Given the description of an element on the screen output the (x, y) to click on. 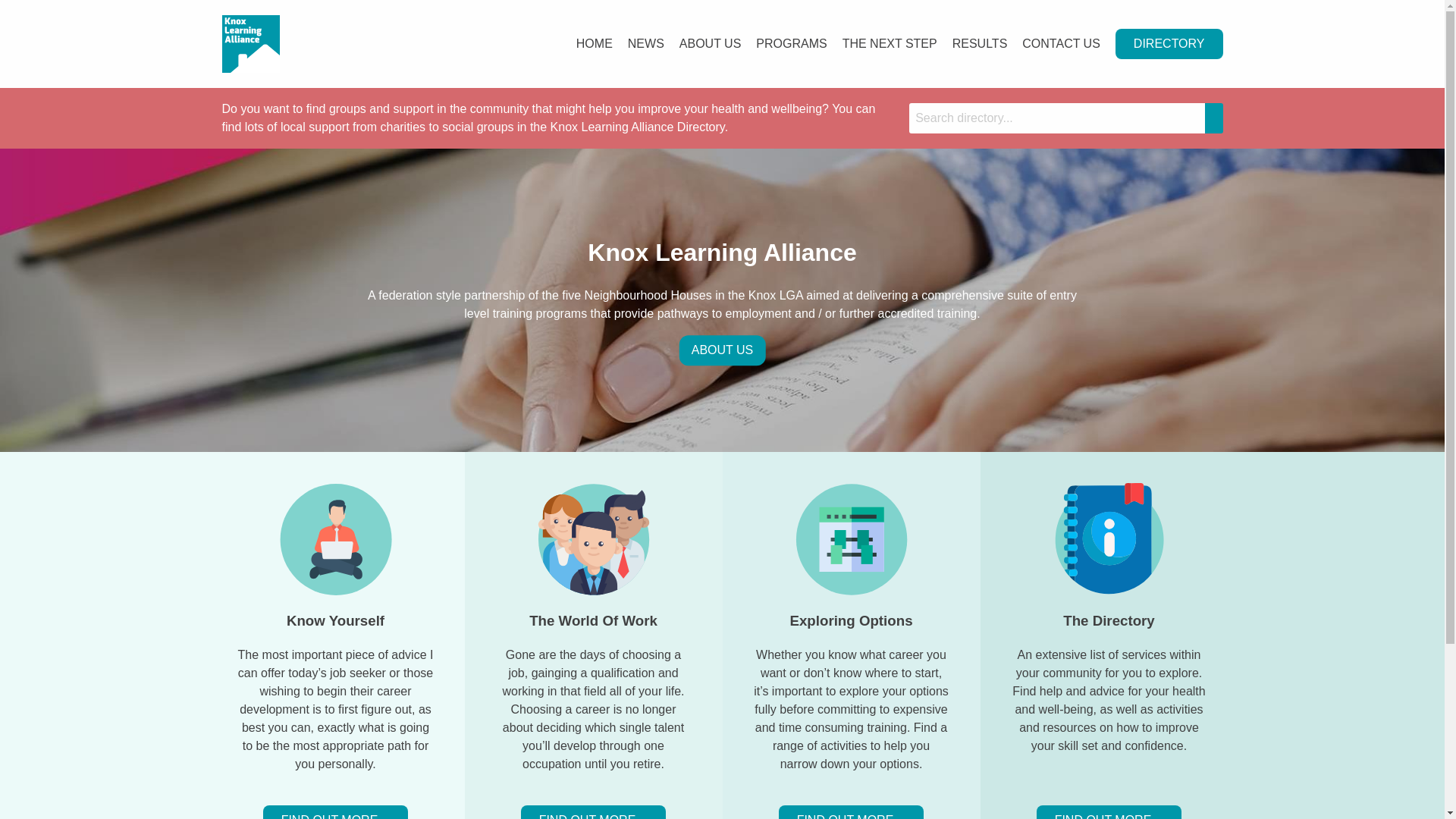
DIRECTORY Element type: text (1169, 43)
home Element type: hover (250, 42)
ABOUT US Element type: text (722, 350)
NEWS Element type: text (645, 43)
ABOUT US Element type: text (710, 43)
RESULTS Element type: text (979, 43)
HOME Element type: text (594, 43)
THE NEXT STEP Element type: text (889, 43)
PROGRAMS Element type: text (791, 43)
CONTACT US Element type: text (1060, 43)
